Given the description of an element on the screen output the (x, y) to click on. 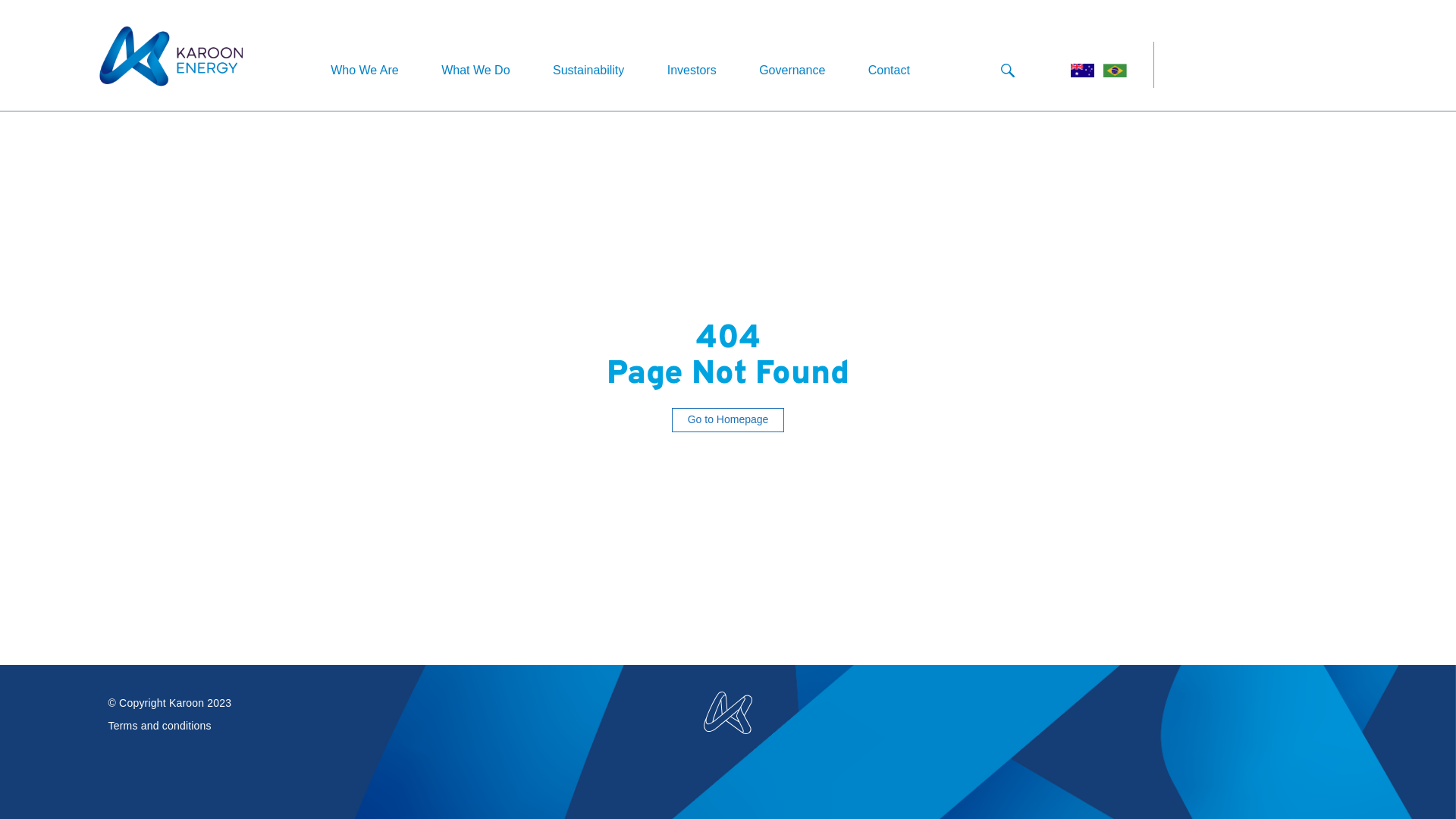
What We Do Element type: text (475, 70)
Investors Element type: text (691, 70)
Go to Homepage Element type: text (727, 419)
Terms and conditions Element type: text (158, 725)
Karoon Element type: hover (727, 712)
Governance Element type: text (791, 70)
Who We Are Element type: text (364, 70)
Contact Element type: text (888, 70)
Sustainability Element type: text (588, 70)
Karoon Element type: hover (170, 56)
Search Element type: hover (1007, 70)
